Given the description of an element on the screen output the (x, y) to click on. 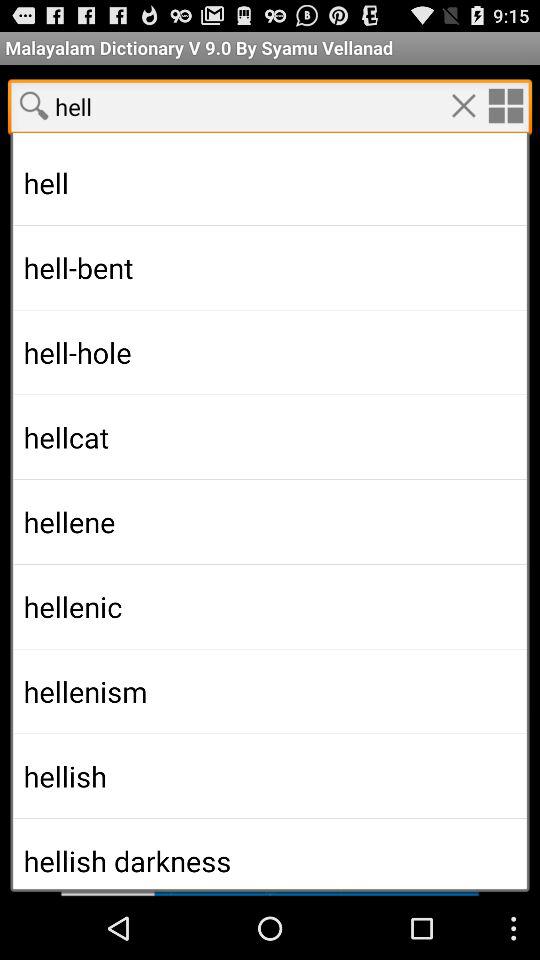
display a word (270, 864)
